Given the description of an element on the screen output the (x, y) to click on. 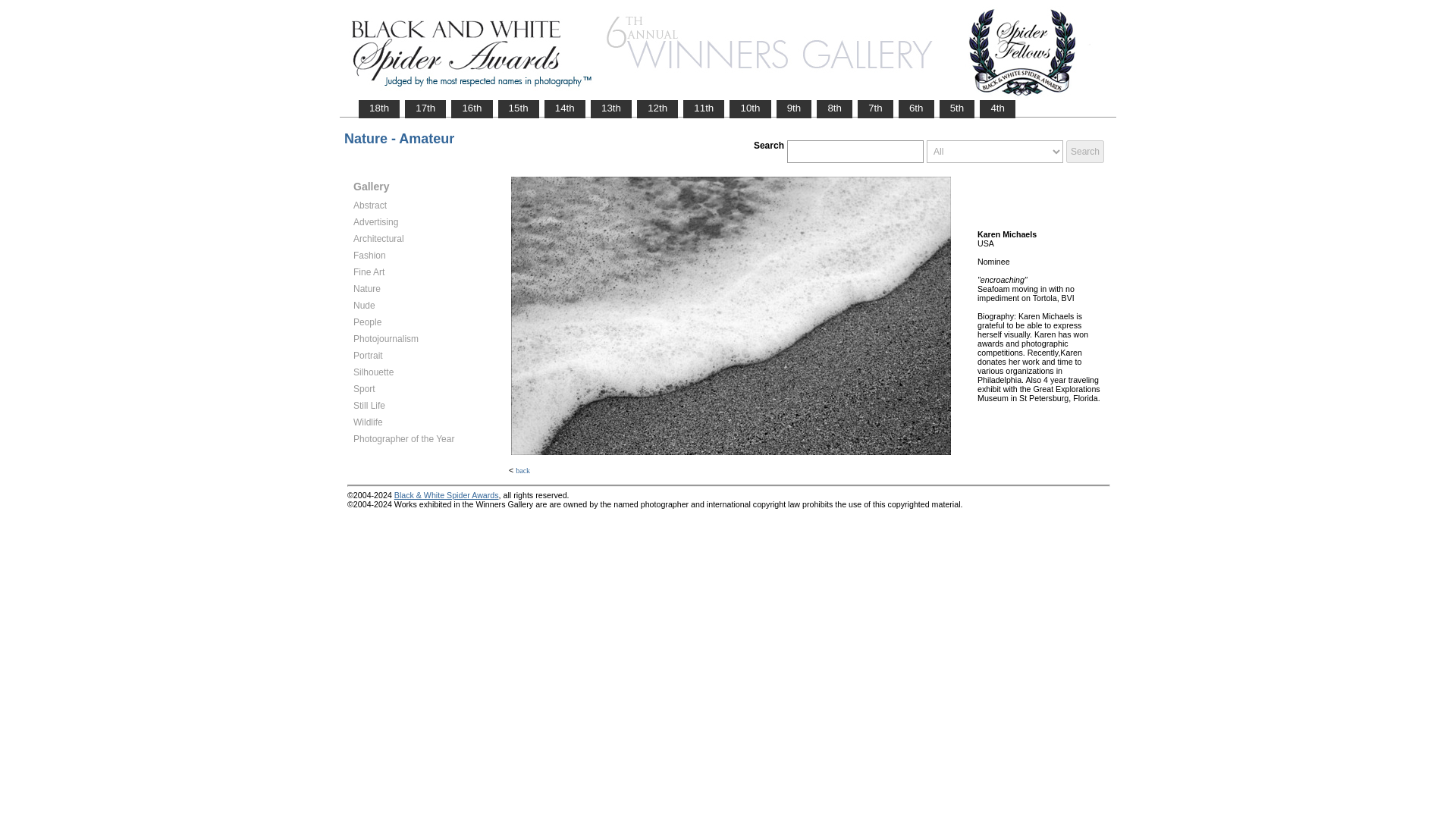
encroaching (730, 315)
   5th    (957, 107)
   13th    (610, 107)
   12th    (657, 107)
   7th    (875, 107)
   9th    (793, 107)
   11th    (703, 107)
   16th    (471, 107)
   17th    (425, 107)
   14th    (564, 107)
